Given the description of an element on the screen output the (x, y) to click on. 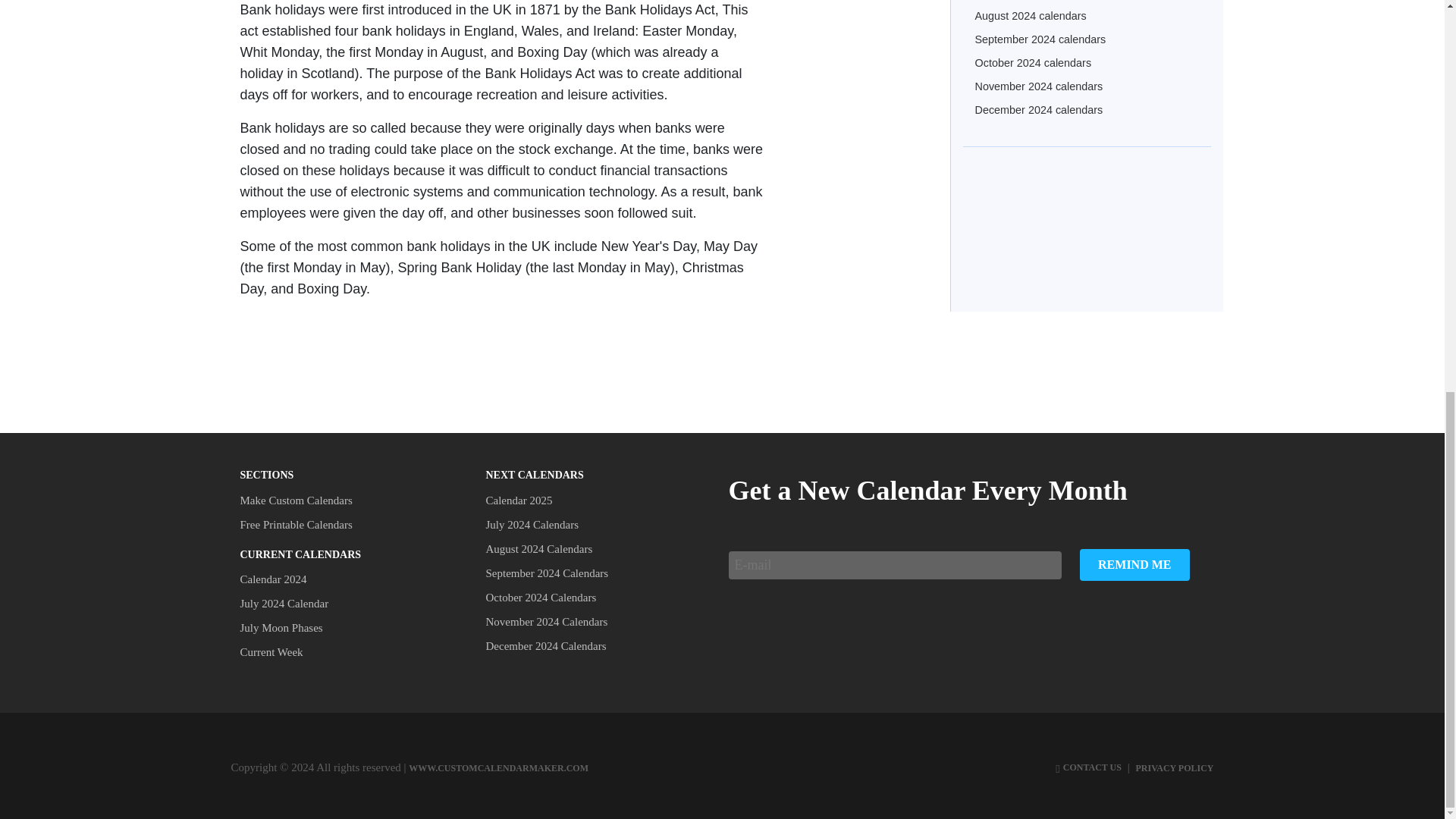
August 2024 calendars (1030, 15)
September 2024 calendars (1040, 39)
Remind Me (1134, 564)
